Given the description of an element on the screen output the (x, y) to click on. 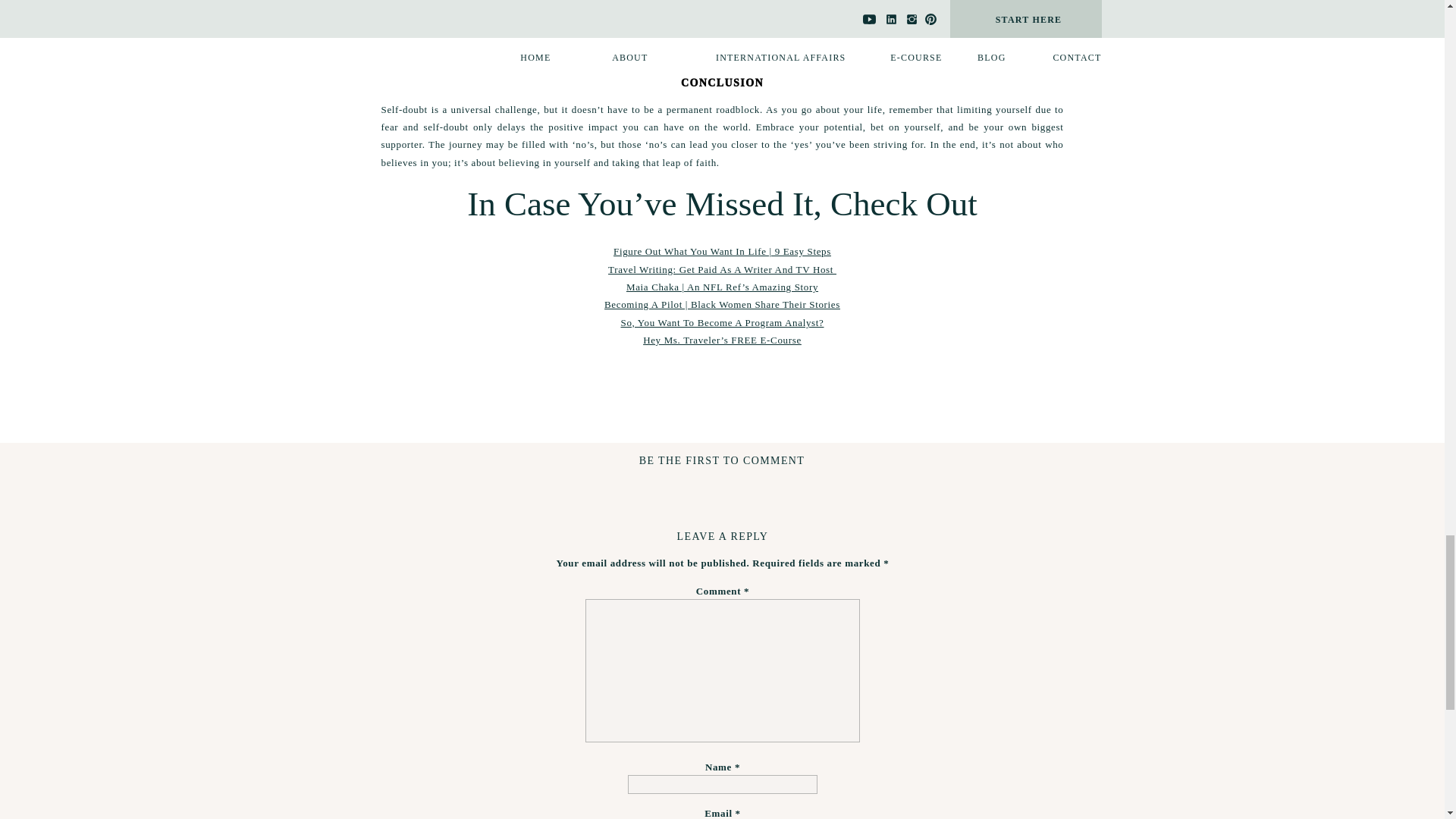
So, You Want To Become A Program Analyst? (722, 322)
Ian Stauffer (470, 58)
Travel Writing: Get Paid As A Writer And TV Host  (721, 269)
BE THE FIRST TO COMMENT (722, 460)
Unsplash (532, 58)
